Given the description of an element on the screen output the (x, y) to click on. 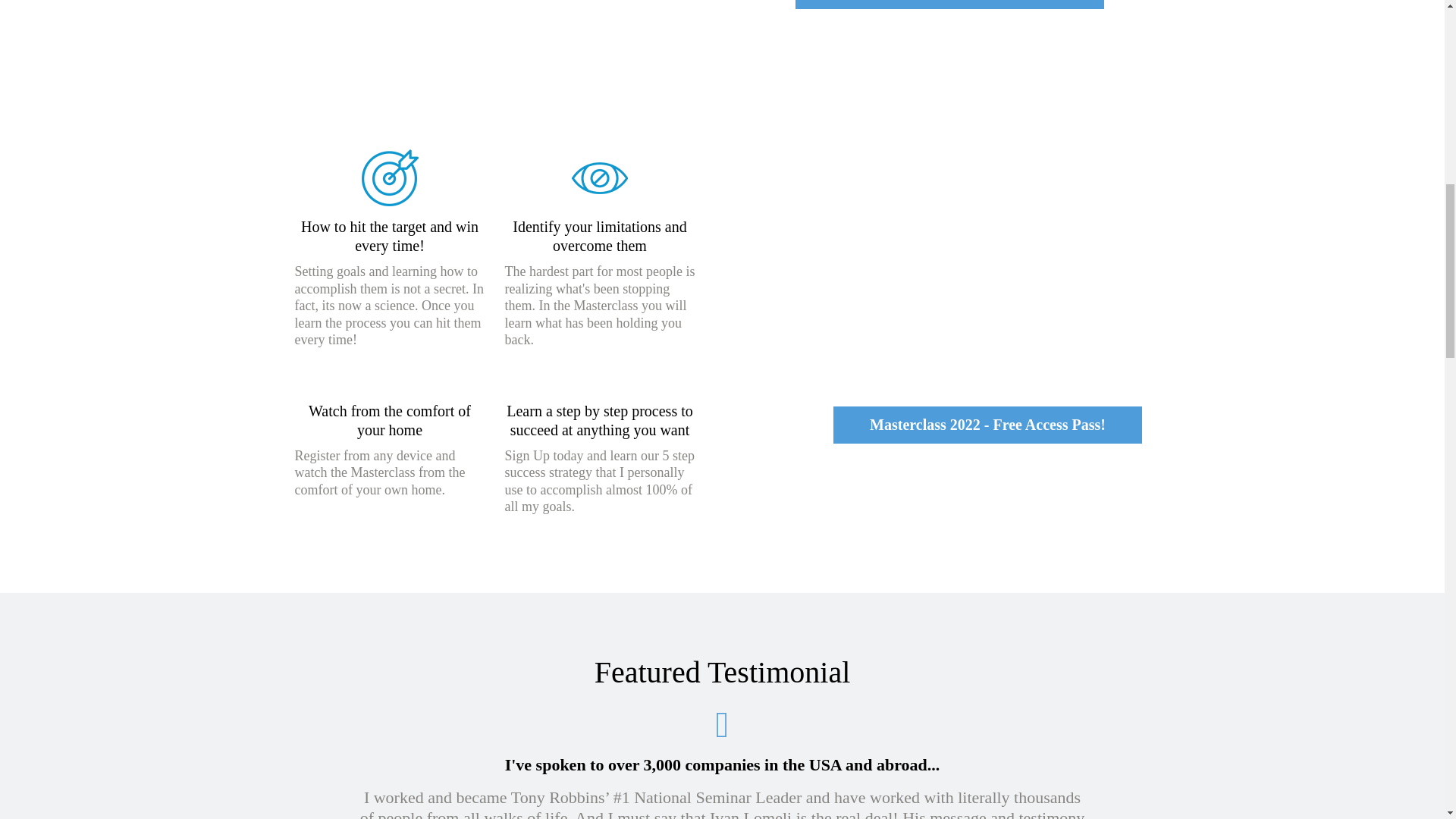
Masterclass 2022 - Free Access Pass! (986, 424)
Masterclass 2022 - Free Access Pass! (948, 4)
